Given the description of an element on the screen output the (x, y) to click on. 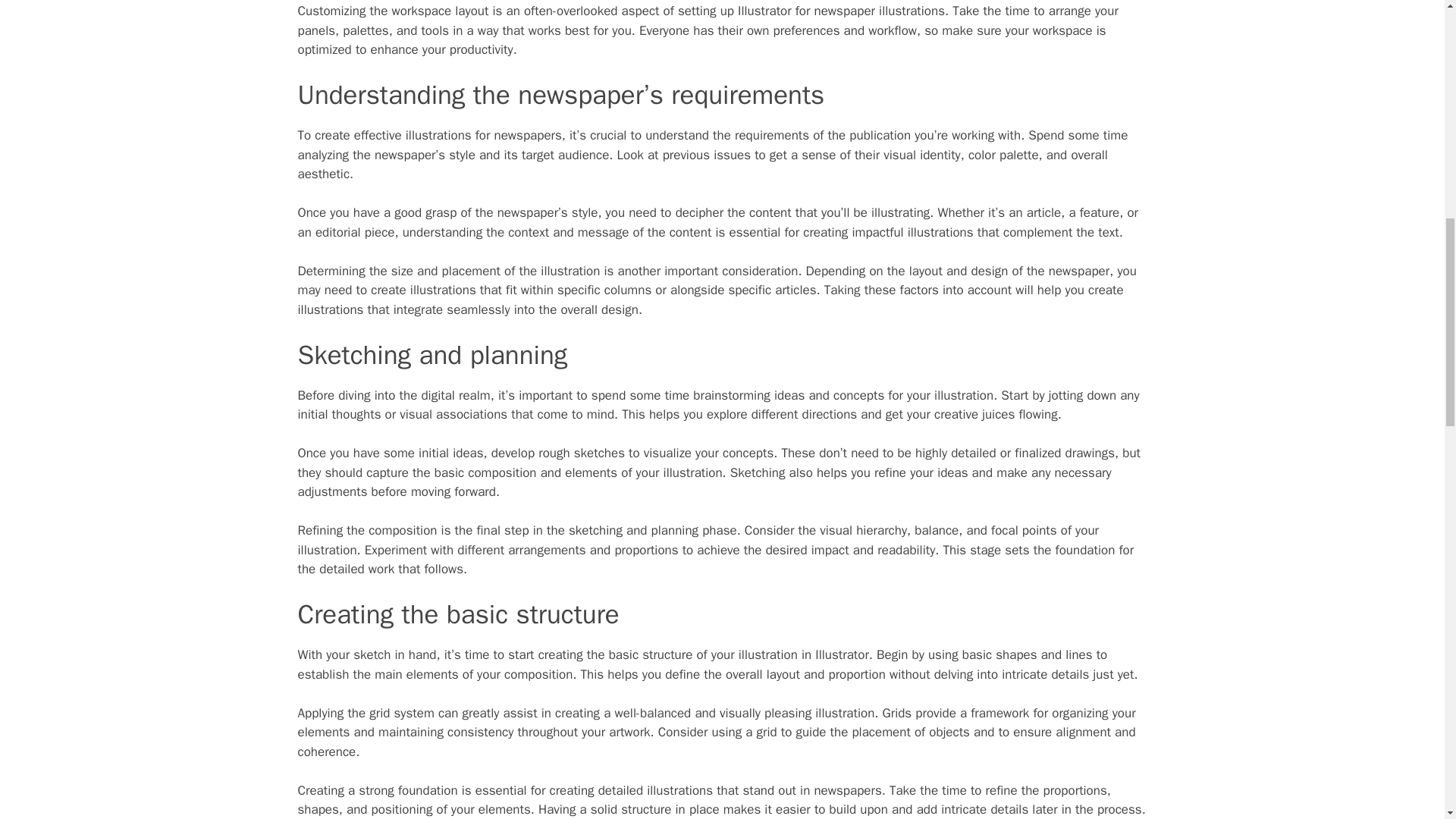
Scroll back to top (1406, 720)
